Given the description of an element on the screen output the (x, y) to click on. 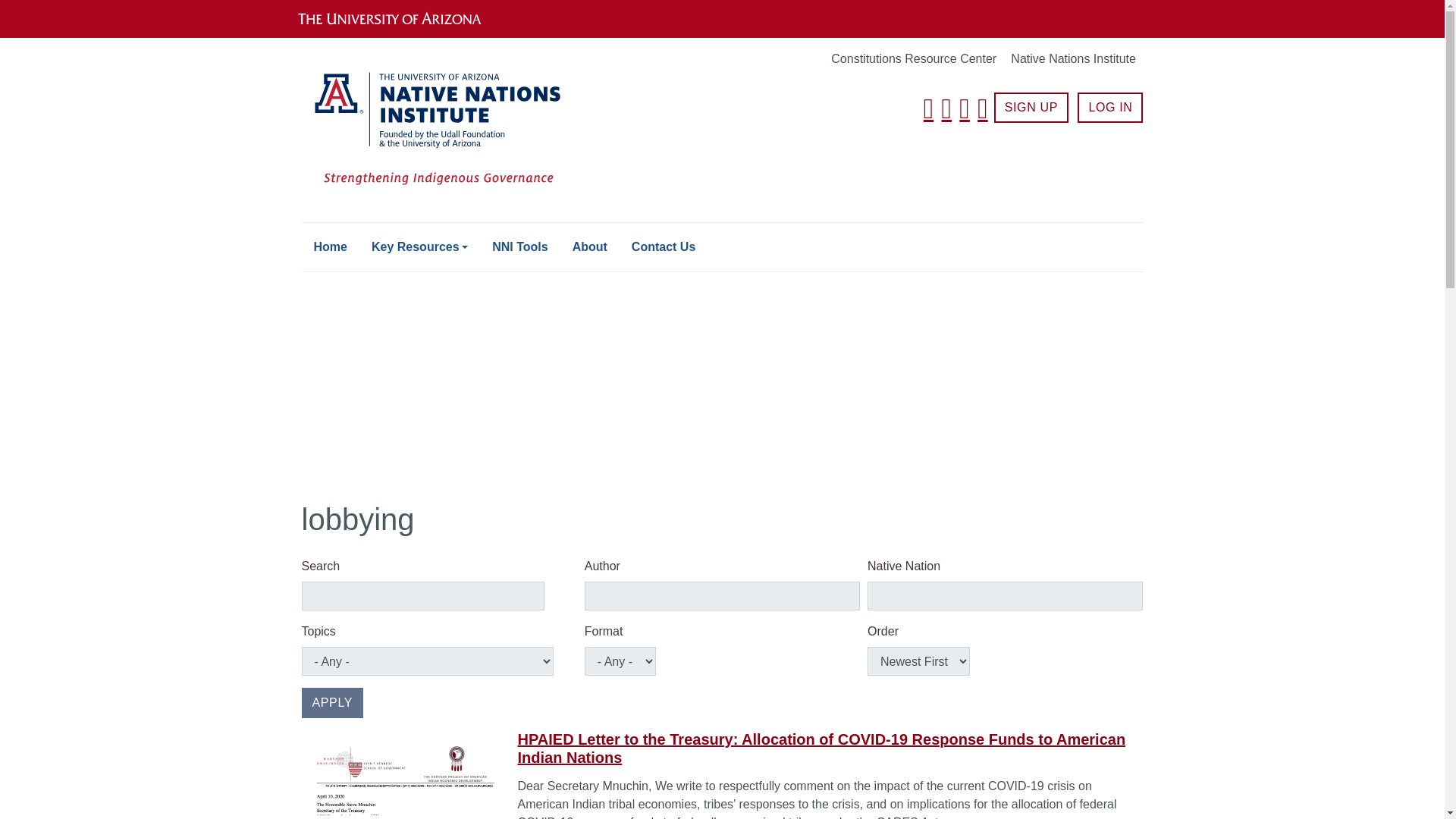
LOG IN (1109, 107)
Native Nations Institute (1072, 59)
About (590, 246)
APPLY (332, 702)
Key Resources (419, 246)
Skip to main content (721, 1)
SIGN UP (1031, 107)
The University of Arizona homepage (401, 18)
Home (330, 246)
Contact Us (663, 246)
